Given the description of an element on the screen output the (x, y) to click on. 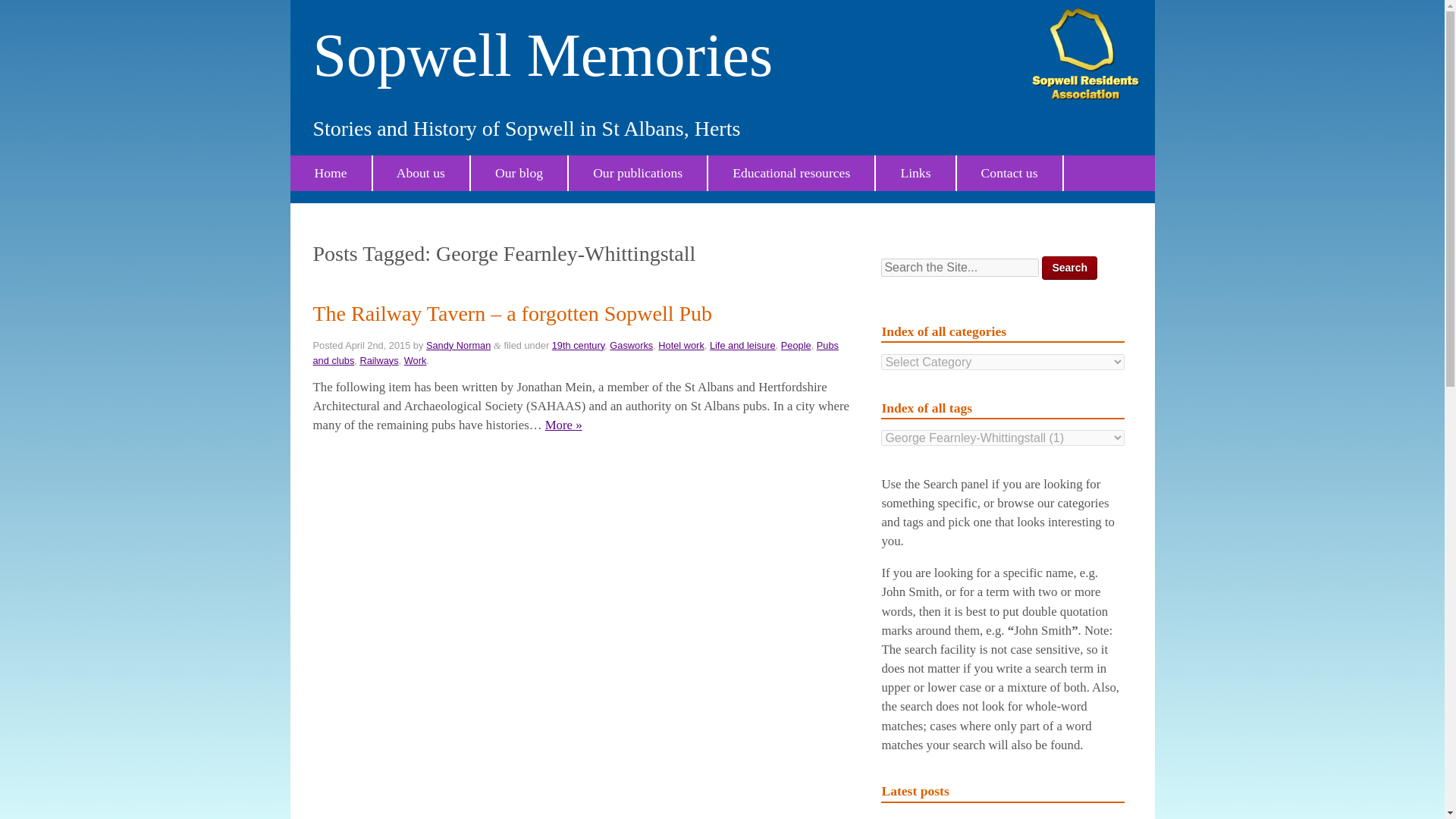
     Contact us      (1010, 172)
Posts by Sandy Norman (458, 345)
     Our publications      (638, 172)
Sopwell Memories (541, 55)
Railways (378, 360)
Home page (330, 172)
Search (1069, 268)
Life and leisure (743, 345)
     Links      (916, 172)
     Our blog      (519, 172)
Work (415, 360)
People (795, 345)
Gasworks (631, 345)
Sandy Norman (458, 345)
